Given the description of an element on the screen output the (x, y) to click on. 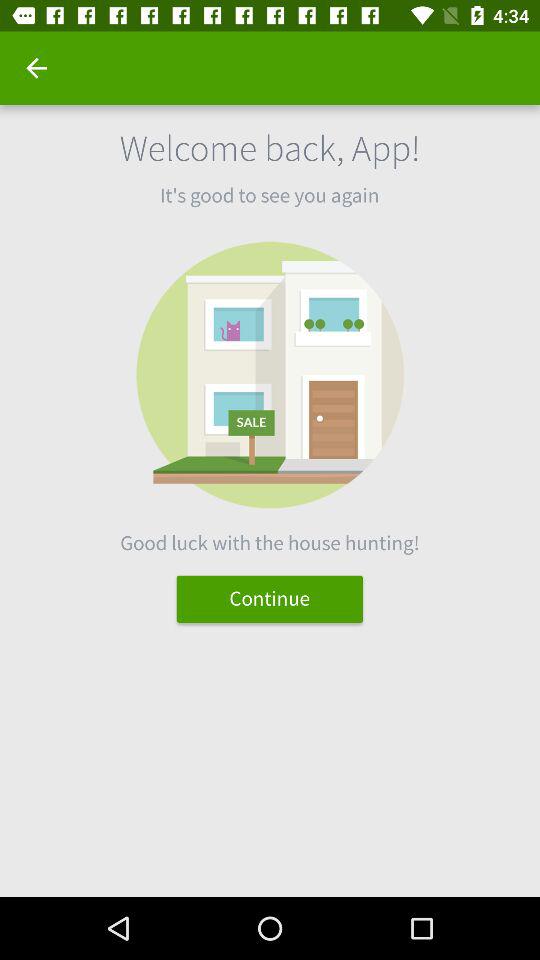
turn off the icon at the top left corner (36, 68)
